Given the description of an element on the screen output the (x, y) to click on. 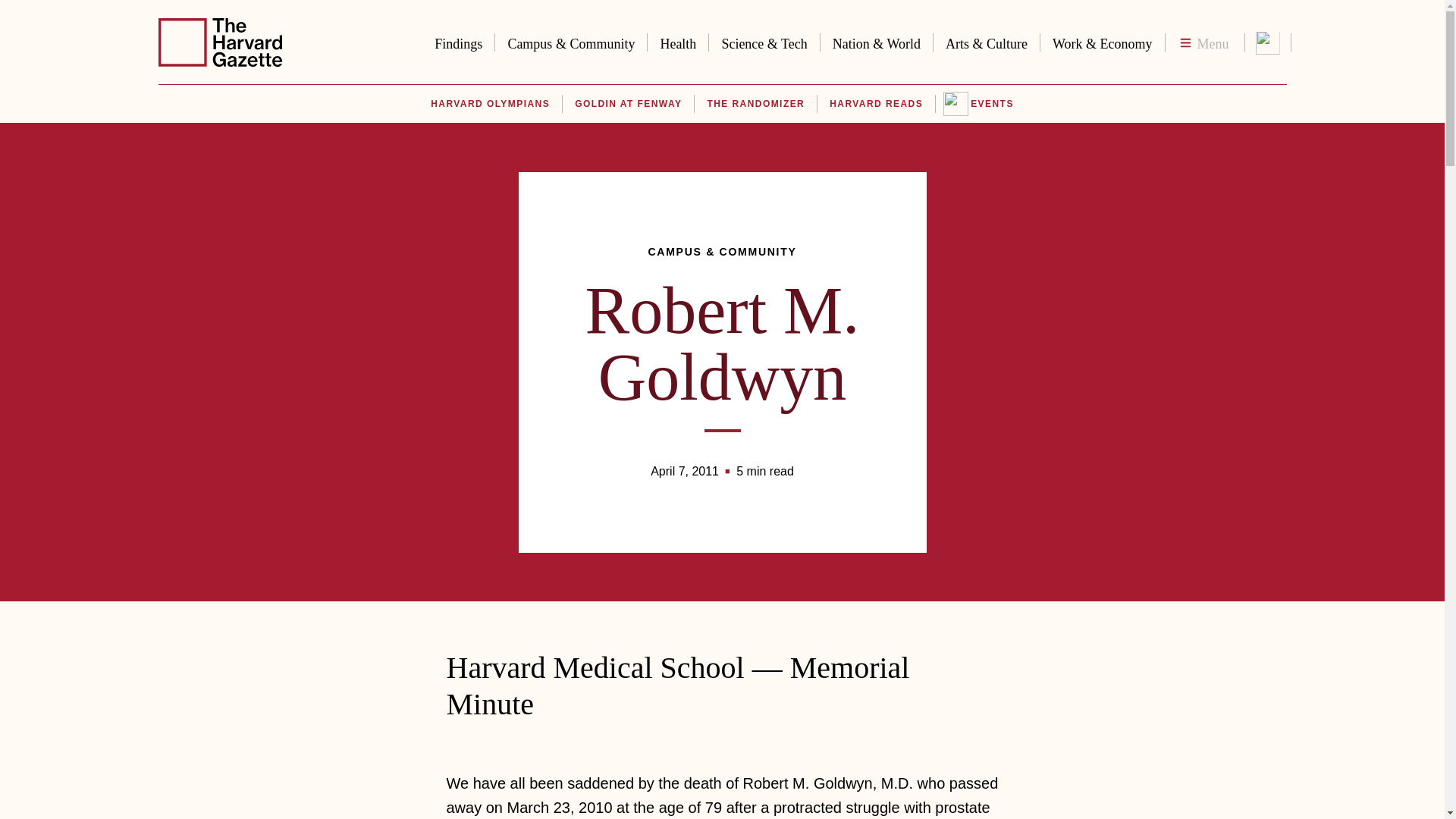
Health (677, 41)
Menu (1204, 42)
GOLDIN AT FENWAY (627, 103)
HARVARD OLYMPIANS (490, 103)
Findings (457, 41)
